Given the description of an element on the screen output the (x, y) to click on. 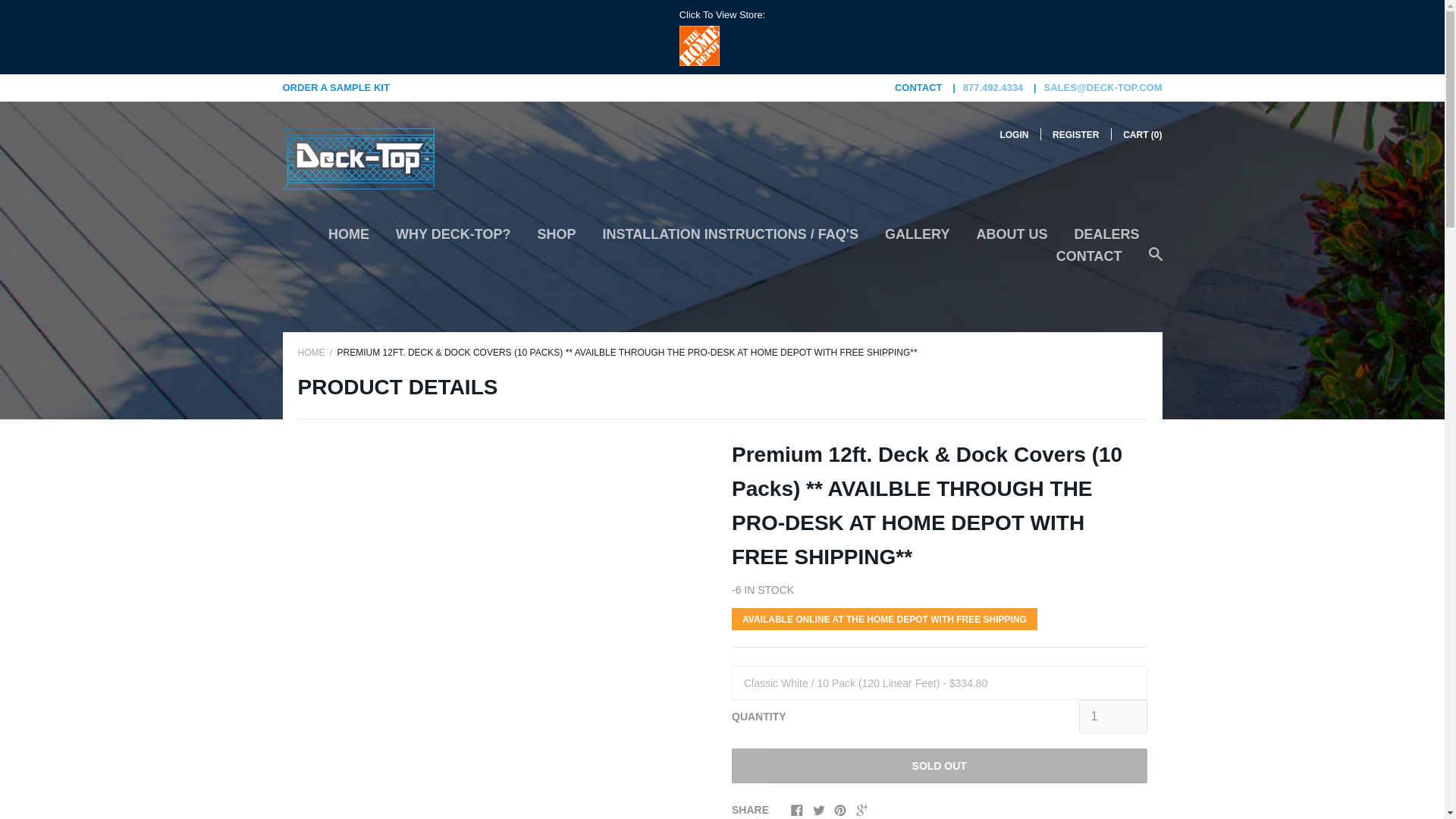
LOGIN (1012, 134)
Facebook (796, 809)
CONTACT (1089, 261)
SOLD OUT (939, 765)
REGISTER (1075, 134)
Pinterest (839, 811)
HOME (349, 239)
ORDER A SAMPLE KIT (335, 87)
WHY DECK-TOP? (453, 239)
Pinterest (839, 809)
